Given the description of an element on the screen output the (x, y) to click on. 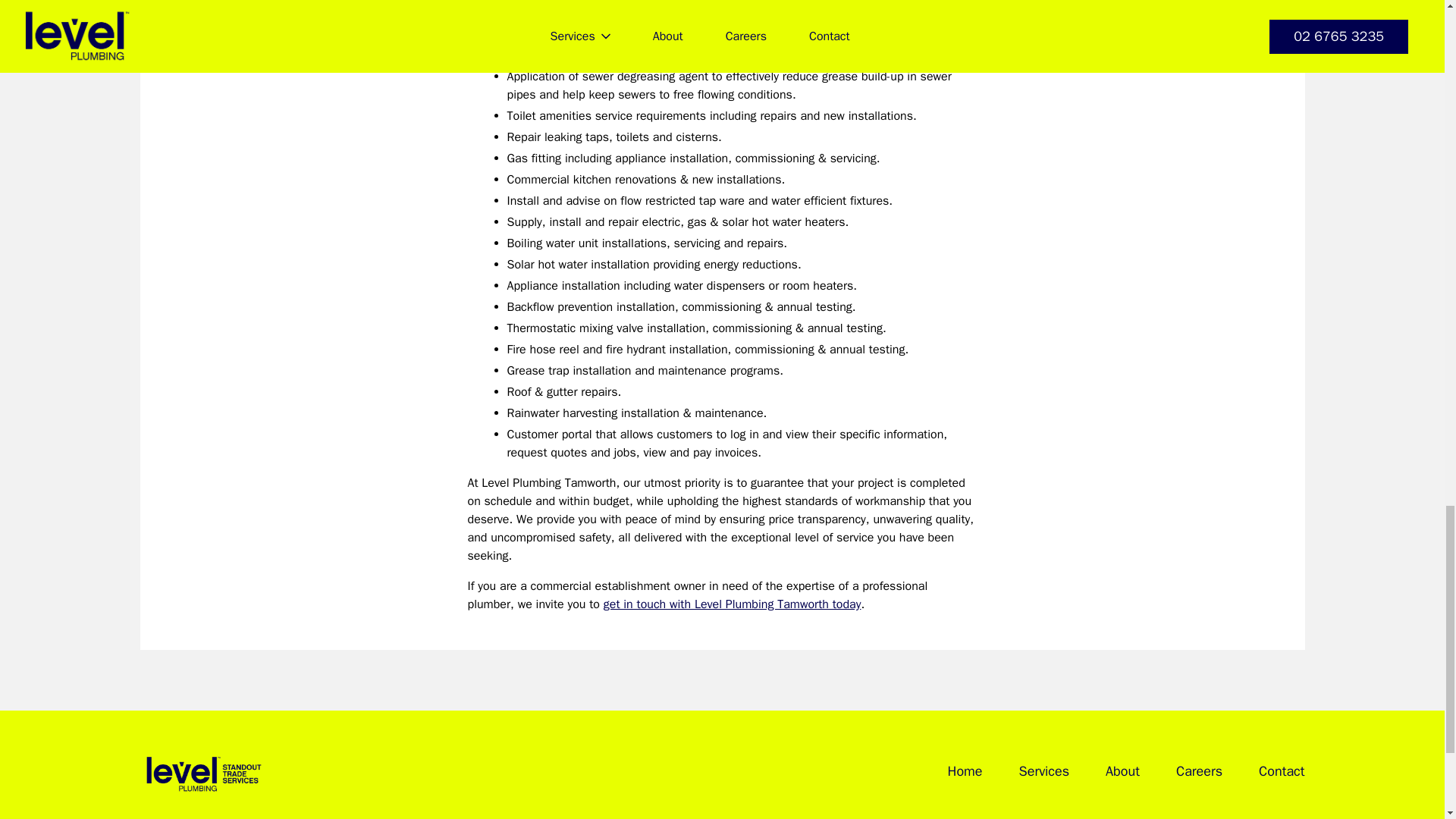
Careers (1199, 771)
Services (1044, 771)
About (1122, 771)
Facebook (1267, 817)
Home (964, 771)
get in touch with Level Plumbing Tamworth today (732, 604)
Contact (1281, 771)
